Given the description of an element on the screen output the (x, y) to click on. 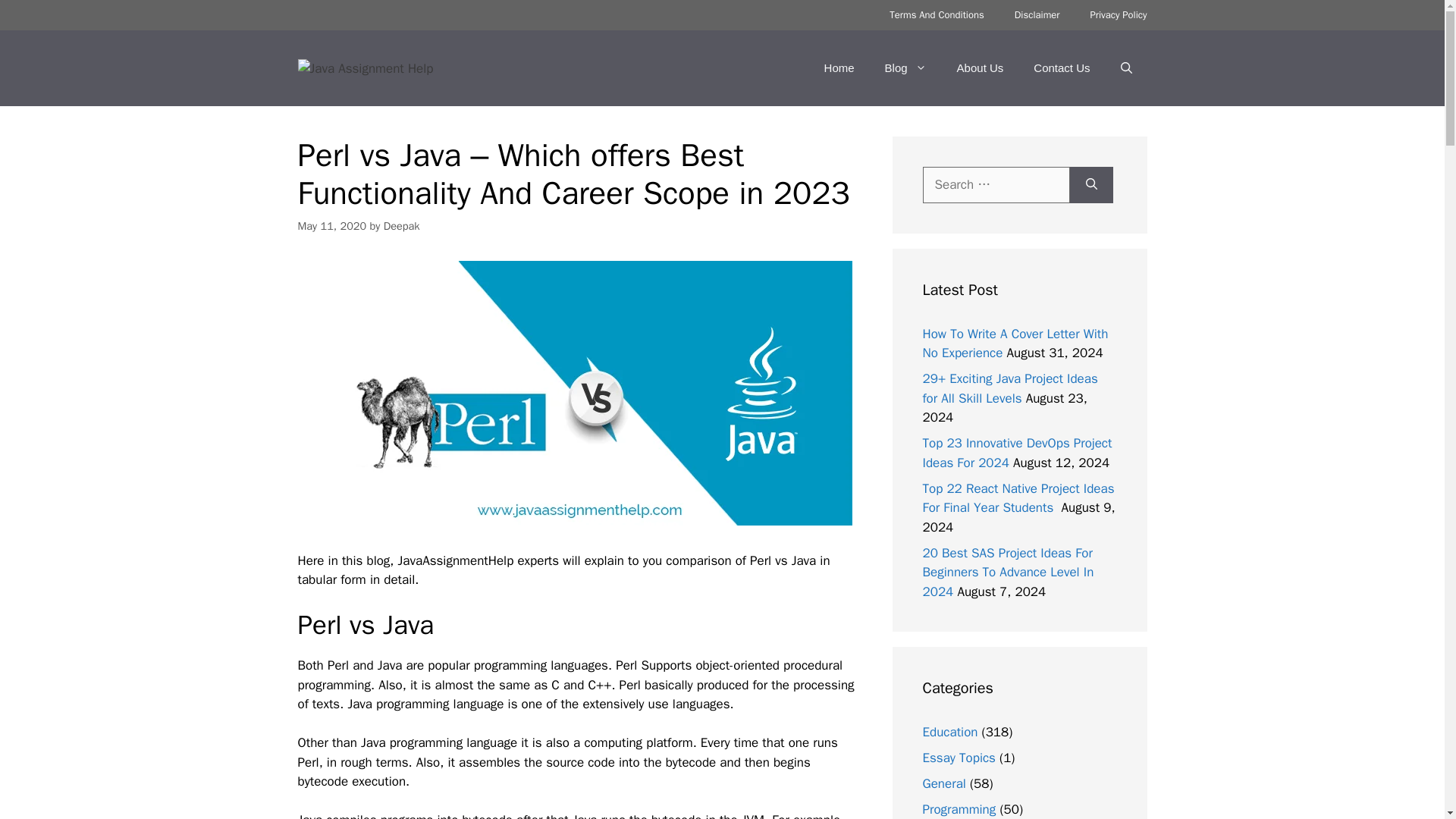
About Us (980, 67)
Privacy Policy (1117, 15)
Terms And Conditions (936, 15)
Disclaimer (1036, 15)
Contact Us (1061, 67)
Deepak (402, 225)
Home (839, 67)
Blog (905, 67)
Search for: (994, 185)
View all posts by Deepak (402, 225)
